Given the description of an element on the screen output the (x, y) to click on. 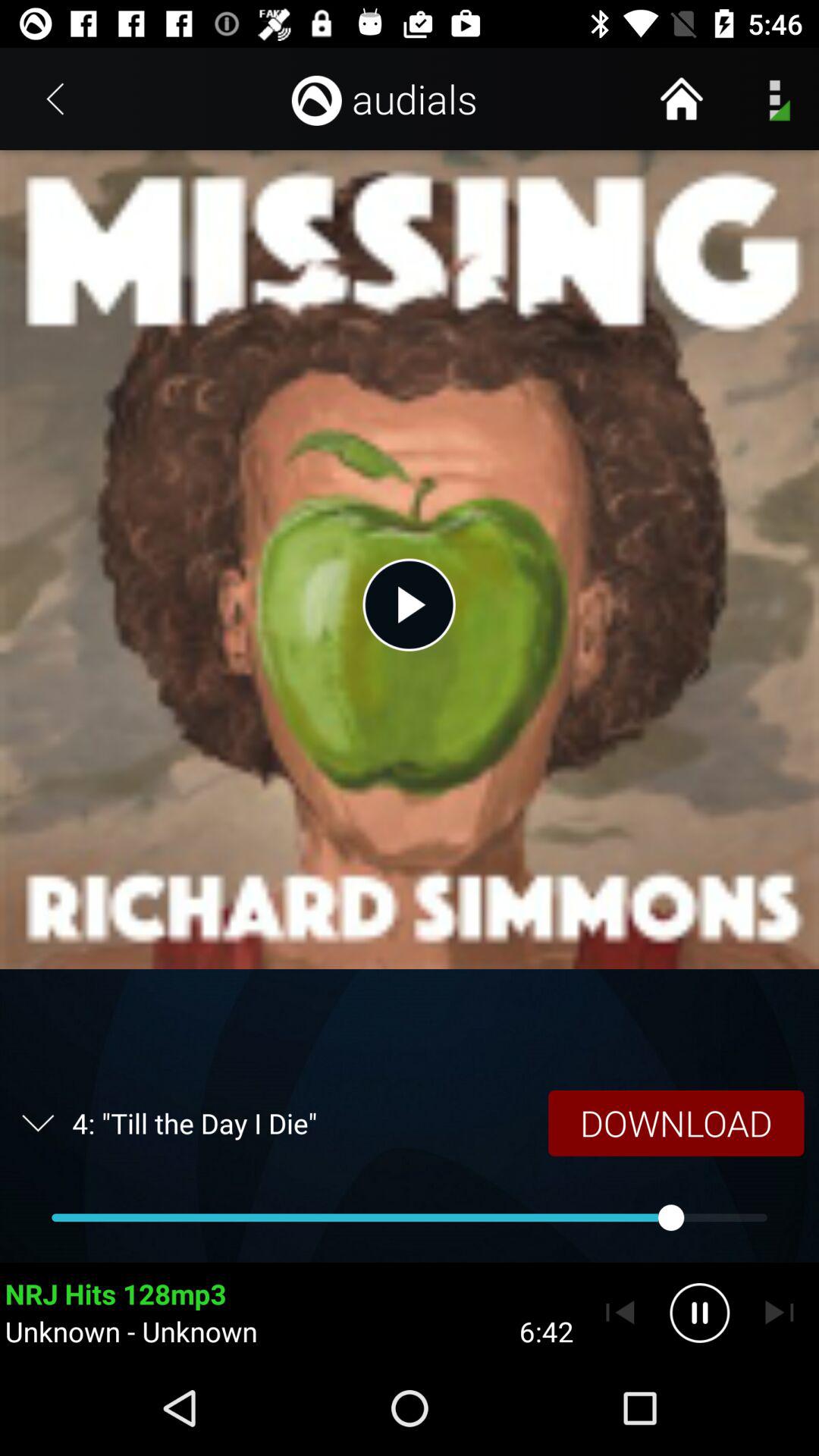
choose the item to the right of the audials item (681, 98)
